Given the description of an element on the screen output the (x, y) to click on. 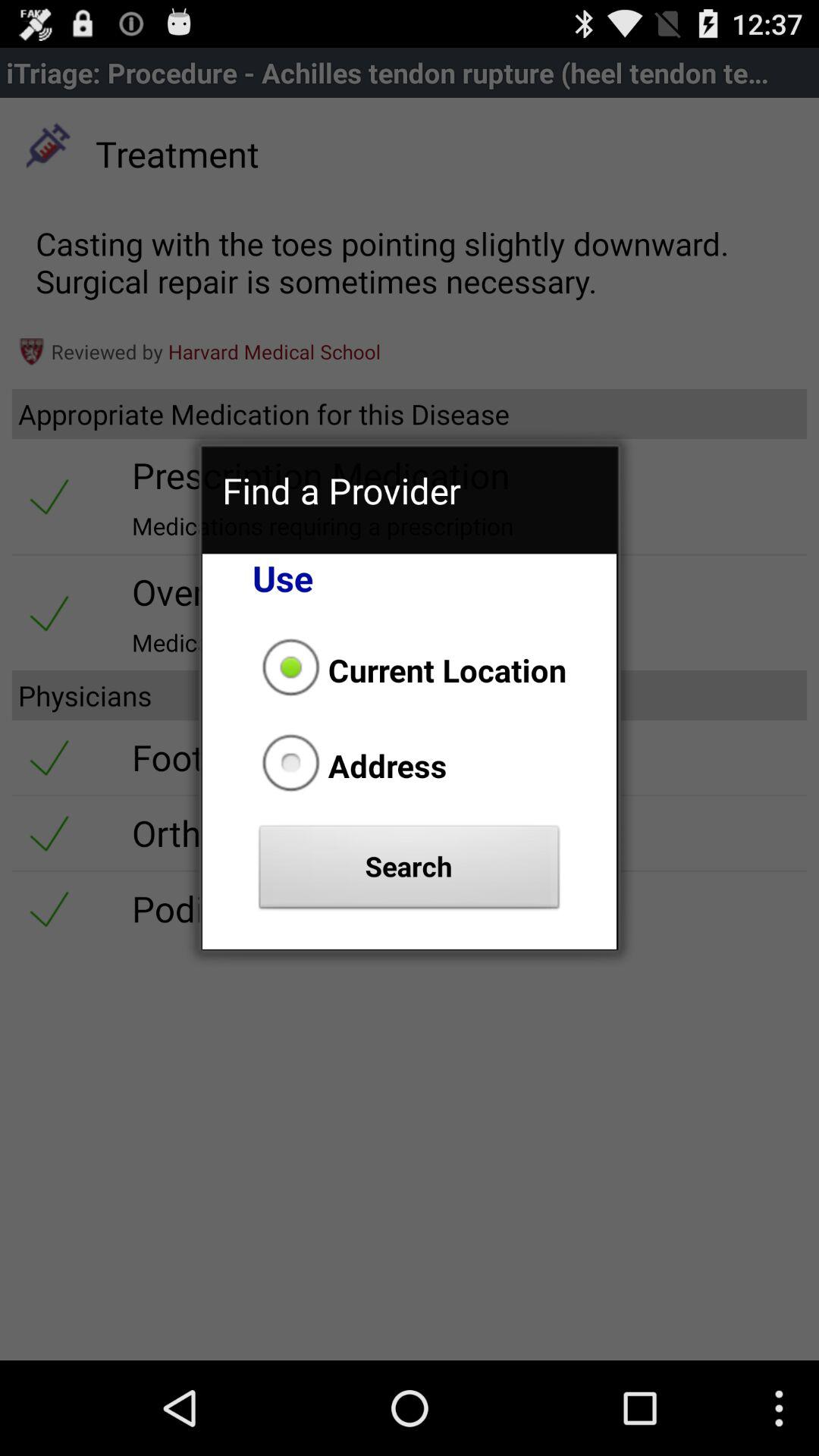
jump to the search item (409, 871)
